Given the description of an element on the screen output the (x, y) to click on. 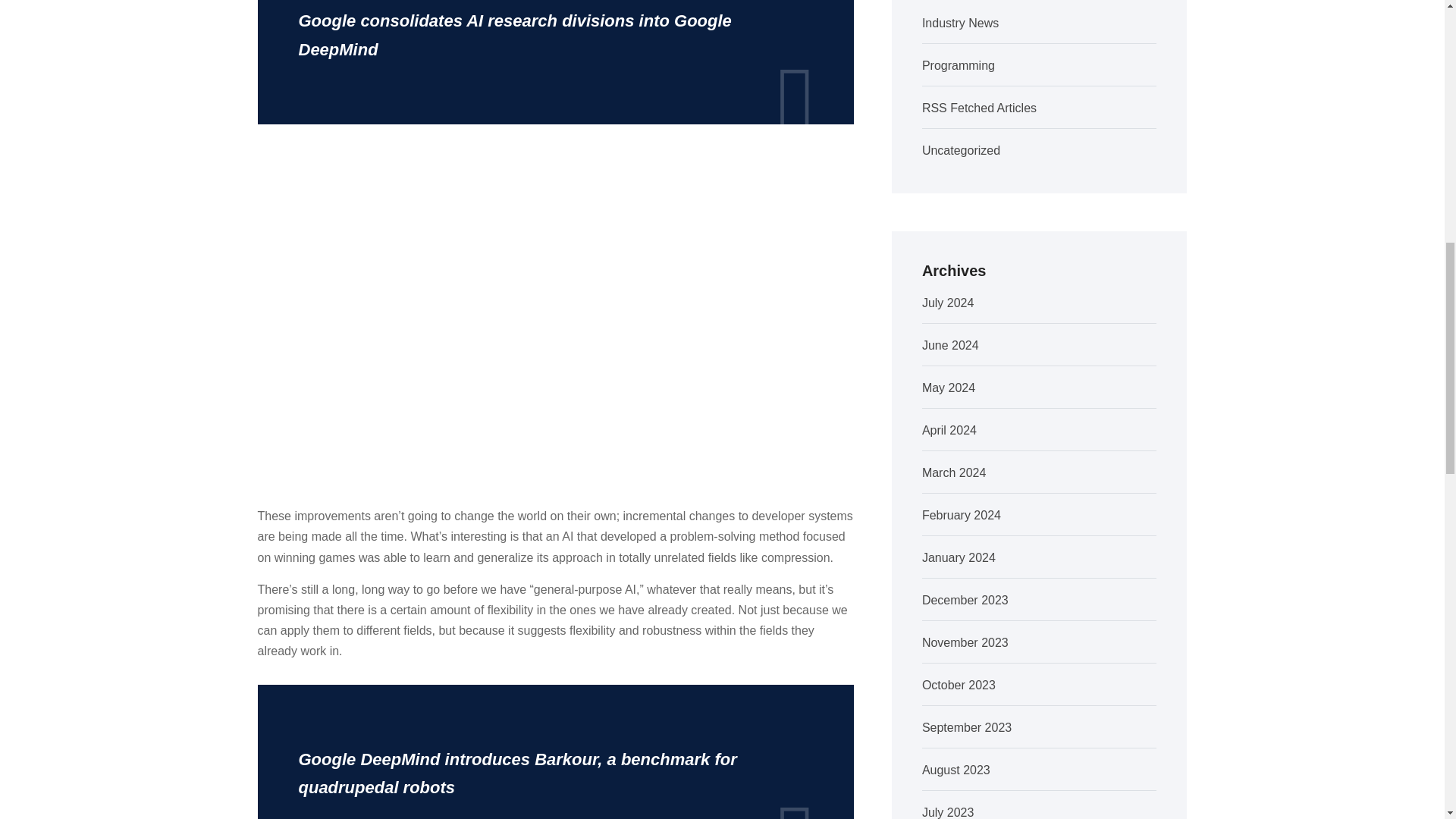
October 2023 (958, 684)
January 2024 (958, 557)
March 2024 (954, 472)
November 2023 (965, 642)
April 2024 (948, 430)
Programming (957, 65)
August 2023 (955, 769)
September 2023 (966, 727)
July 2024 (947, 302)
Industry News (959, 22)
June 2024 (949, 345)
RSS Fetched Articles (978, 107)
May 2024 (948, 387)
